Given the description of an element on the screen output the (x, y) to click on. 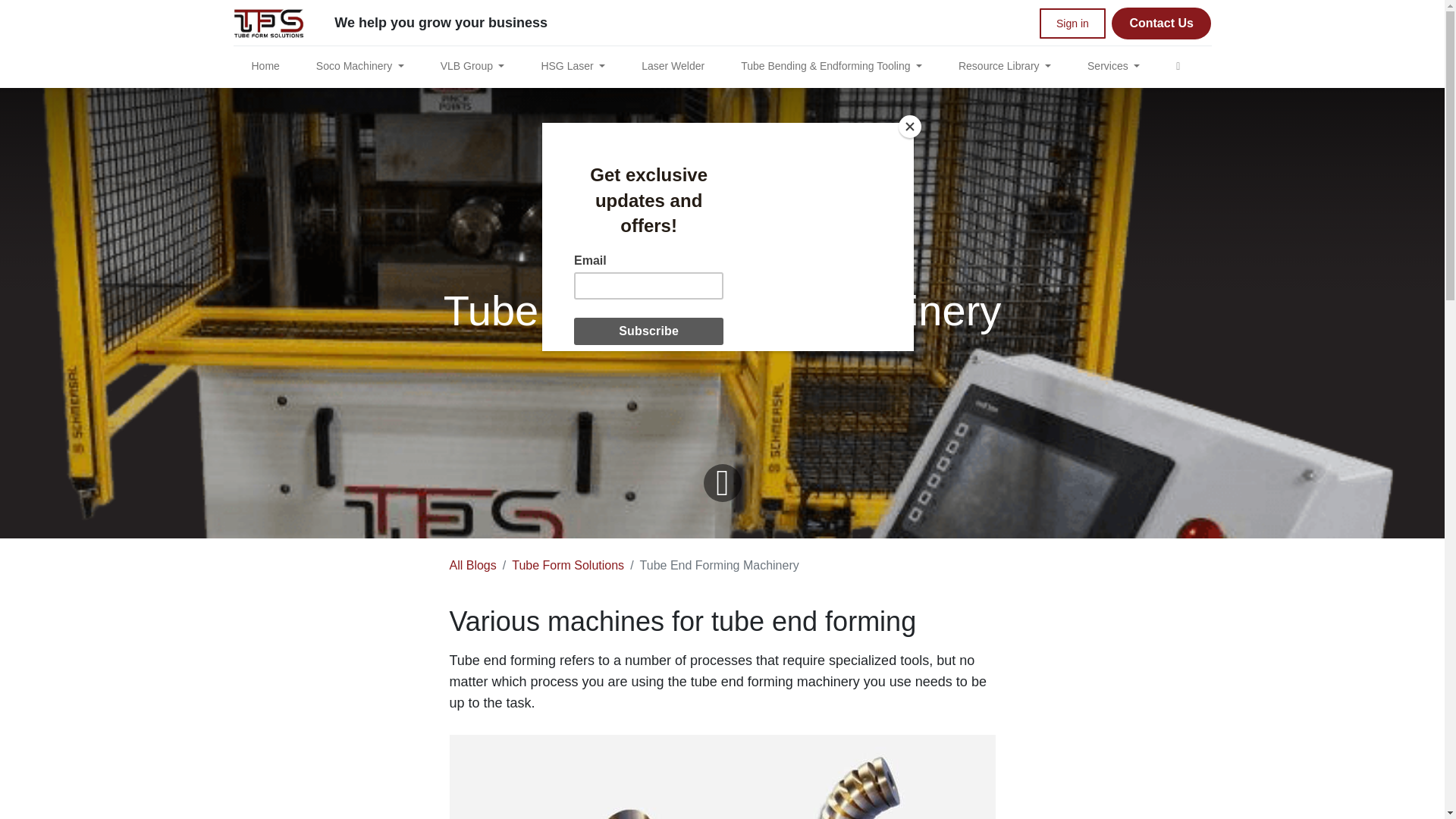
Sign in (1072, 23)
Contact Us (1161, 23)
Tube Form Solutions (268, 23)
VLB Group (472, 66)
Home (265, 66)
Soco Machinery (360, 66)
